Given the description of an element on the screen output the (x, y) to click on. 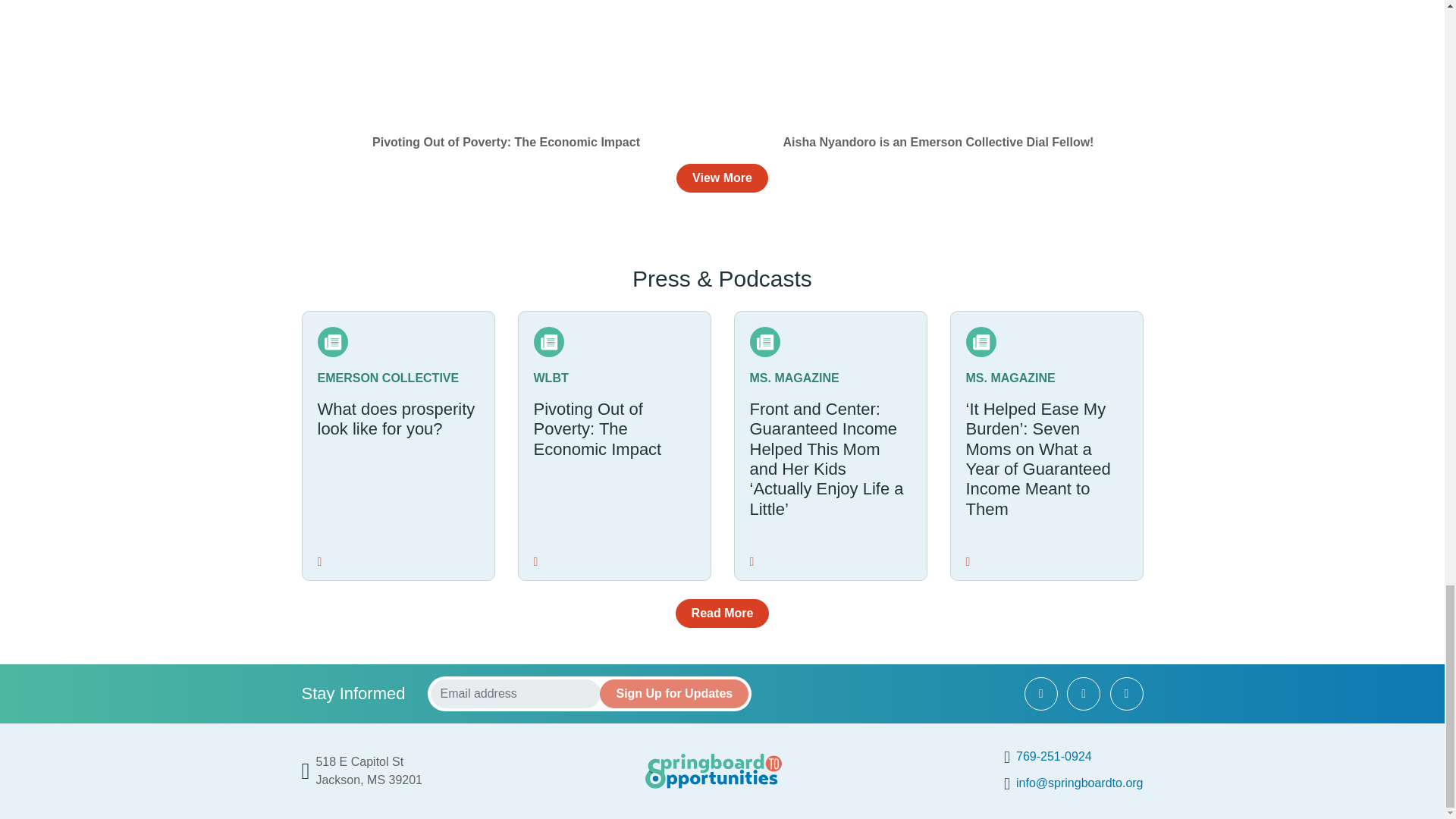
View More (613, 445)
Sign Up for Updates (722, 177)
769-251-0924 (673, 693)
Read More (1054, 756)
